Given the description of an element on the screen output the (x, y) to click on. 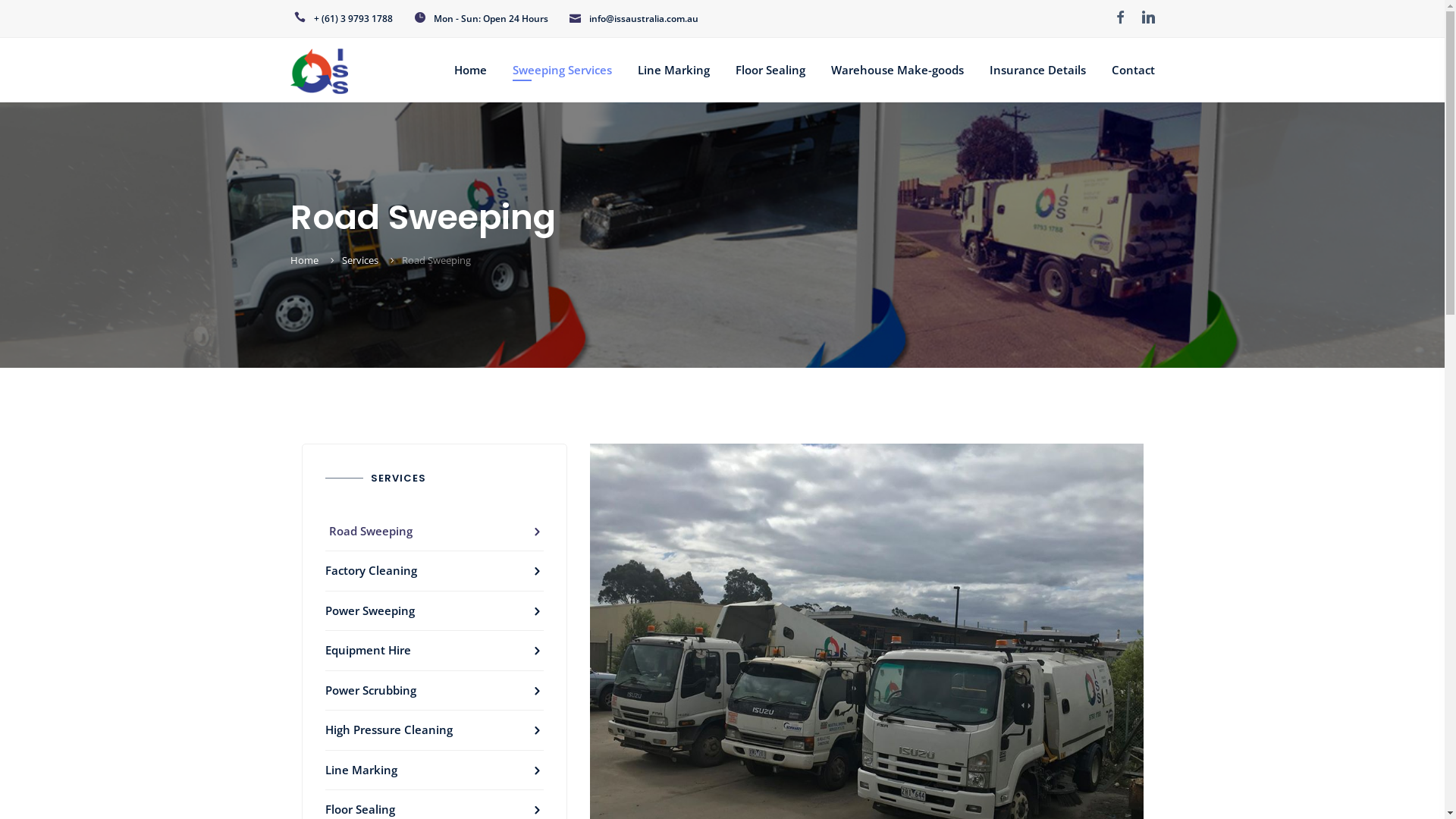
Power Sweeping Element type: text (433, 611)
Warehouse Make-goods Element type: text (897, 69)
Sweeping Services Element type: text (561, 69)
Services Element type: text (359, 259)
Line Marking Element type: text (673, 69)
Home Element type: text (469, 69)
Road Sweeping Element type: text (433, 531)
Factory Cleaning Element type: text (433, 571)
Equipment Hire Element type: text (433, 650)
Road Sweeping Element type: text (435, 259)
Insurance Details Element type: text (1036, 69)
High Pressure Cleaning Element type: text (433, 730)
Home Element type: text (303, 259)
Line Marking Element type: text (433, 770)
Contact Element type: text (1132, 69)
Power Scrubbing Element type: text (433, 691)
Floor Sealing Element type: text (770, 69)
